Given the description of an element on the screen output the (x, y) to click on. 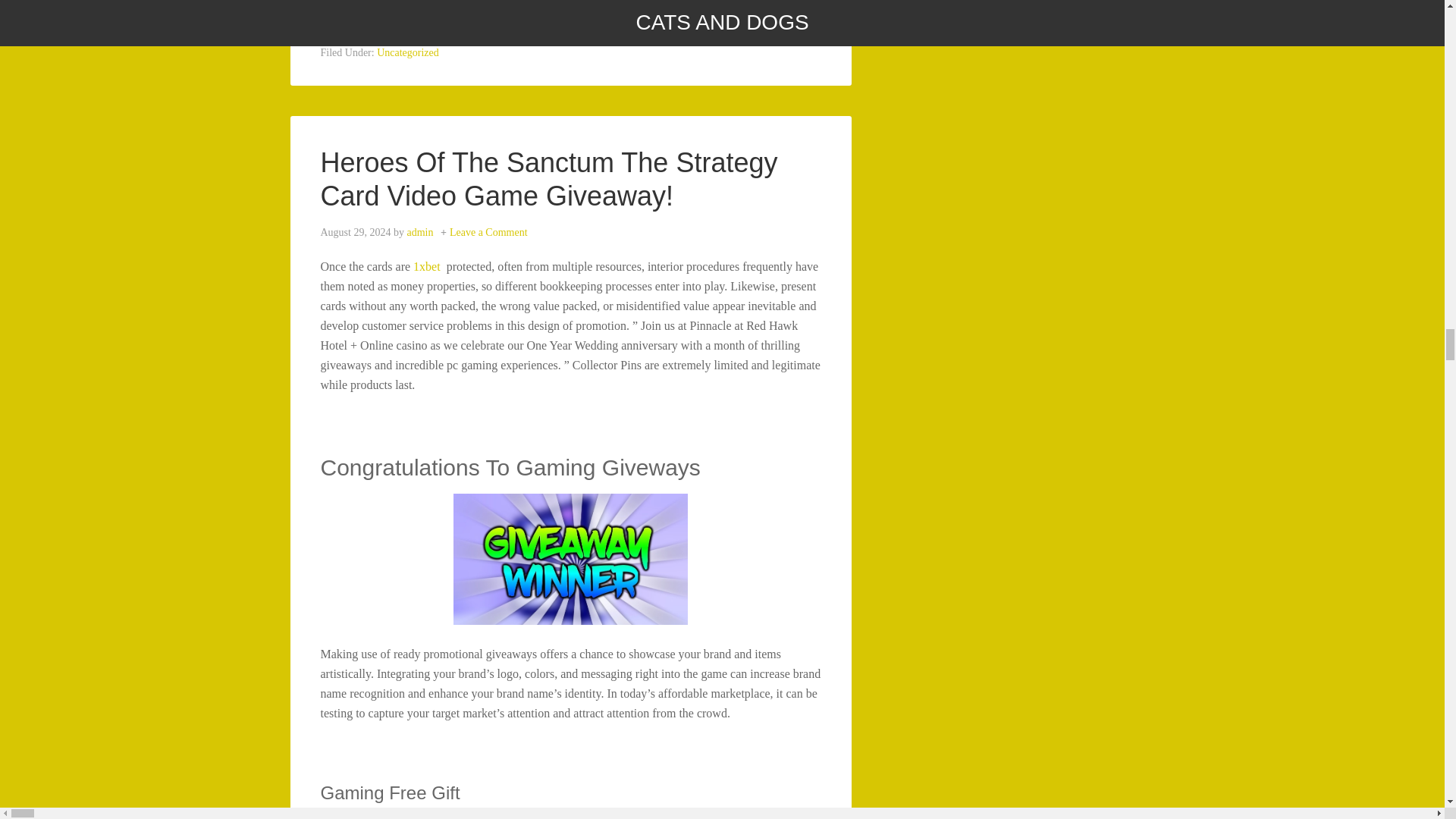
1xbet (427, 266)
Heroes Of The Sanctum The Strategy Card Video Game Giveaway! (570, 178)
Leave a Comment (488, 232)
Uncategorized (408, 52)
admin (419, 232)
